Given the description of an element on the screen output the (x, y) to click on. 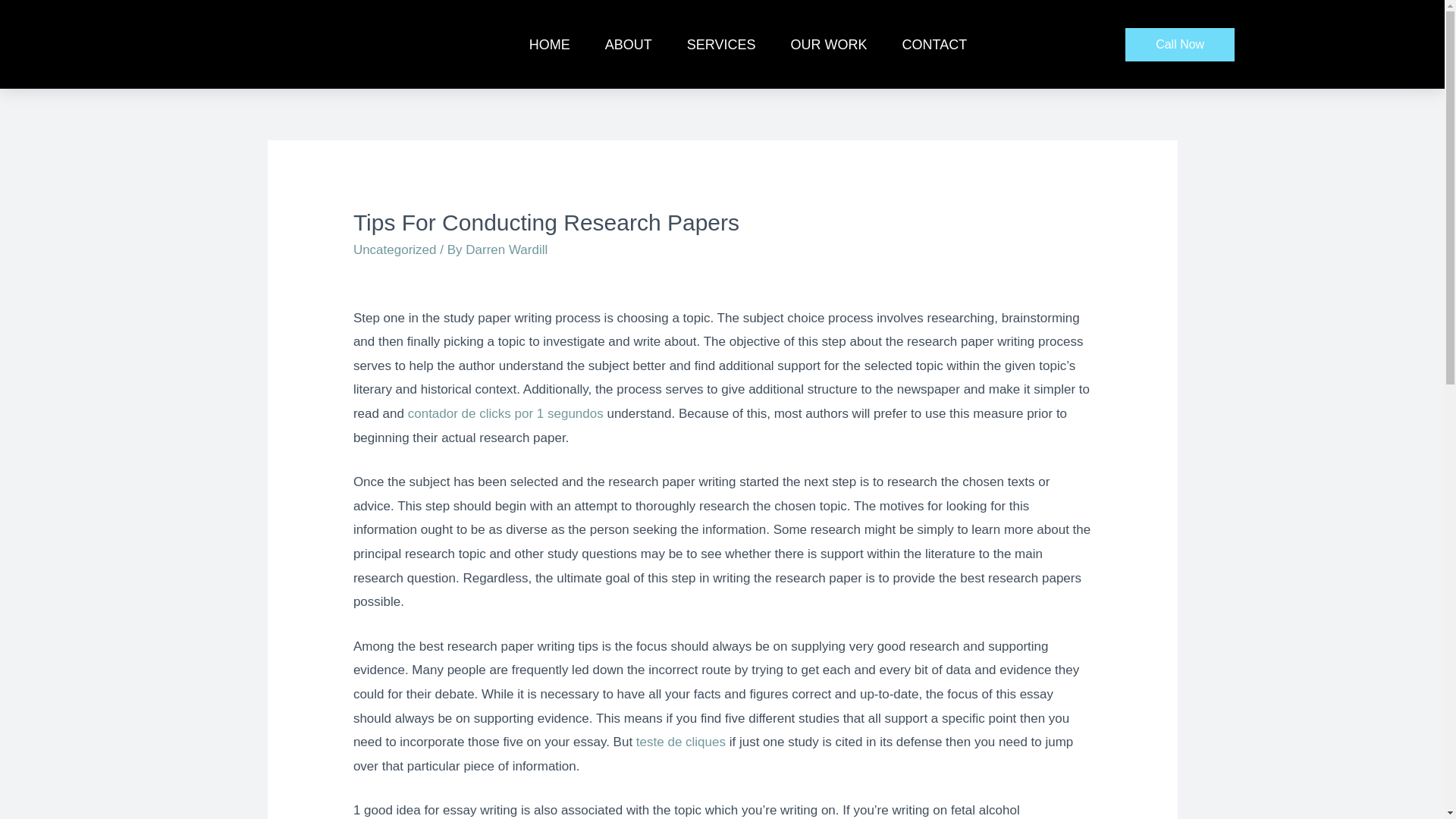
OUR WORK (828, 44)
ABOUT (627, 44)
HOME (549, 44)
SERVICES (721, 44)
teste de cliques (680, 741)
Uncategorized (394, 249)
View all posts by Darren Wardill (506, 249)
contador de clicks por 1 segundos (505, 413)
CONTACT (934, 44)
Call Now (1179, 44)
